Given the description of an element on the screen output the (x, y) to click on. 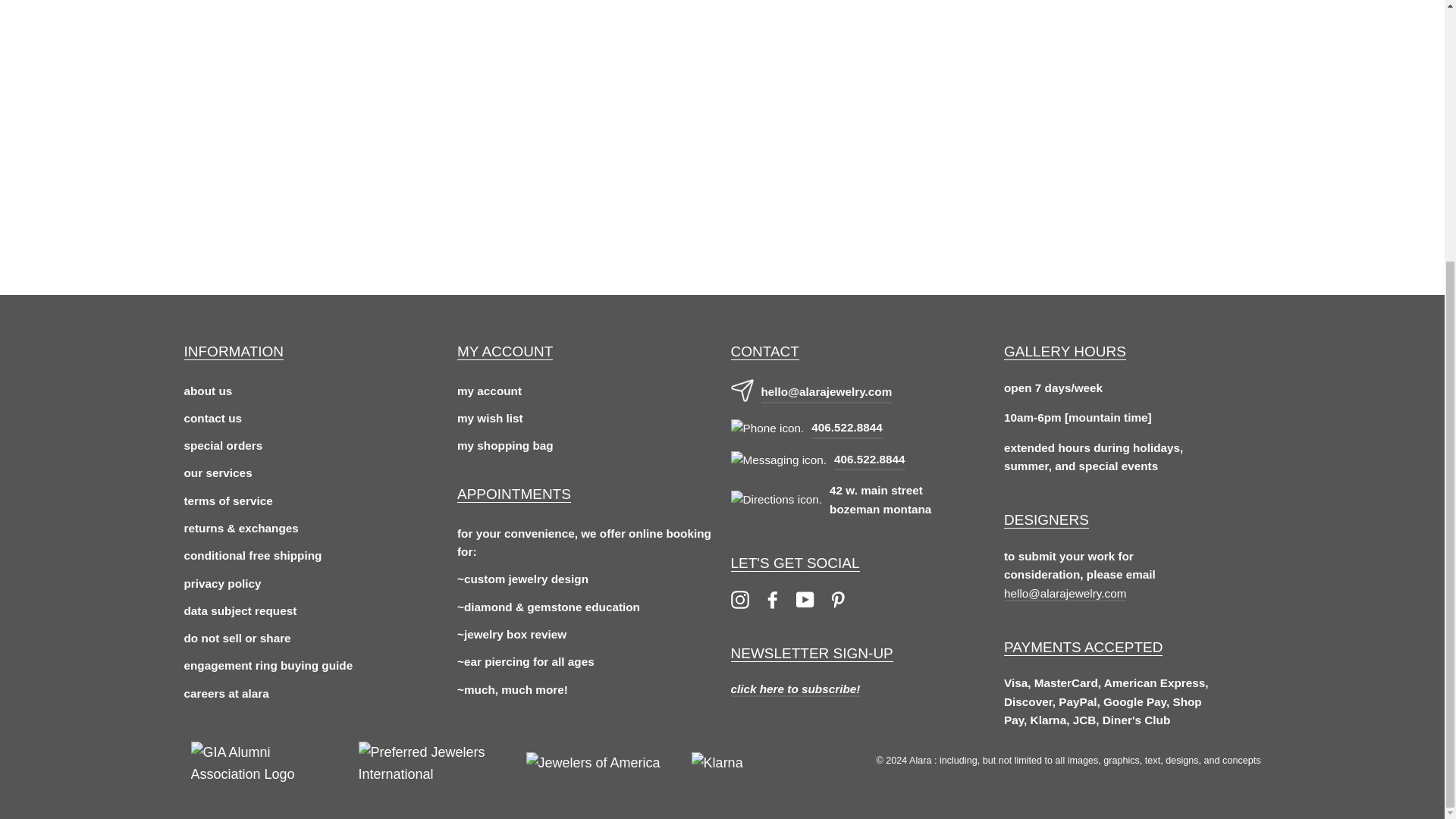
Alara on YouTube (804, 599)
Alara on Facebook (771, 599)
Alara on Pinterest (837, 599)
Alara on Instagram (739, 599)
